Given the description of an element on the screen output the (x, y) to click on. 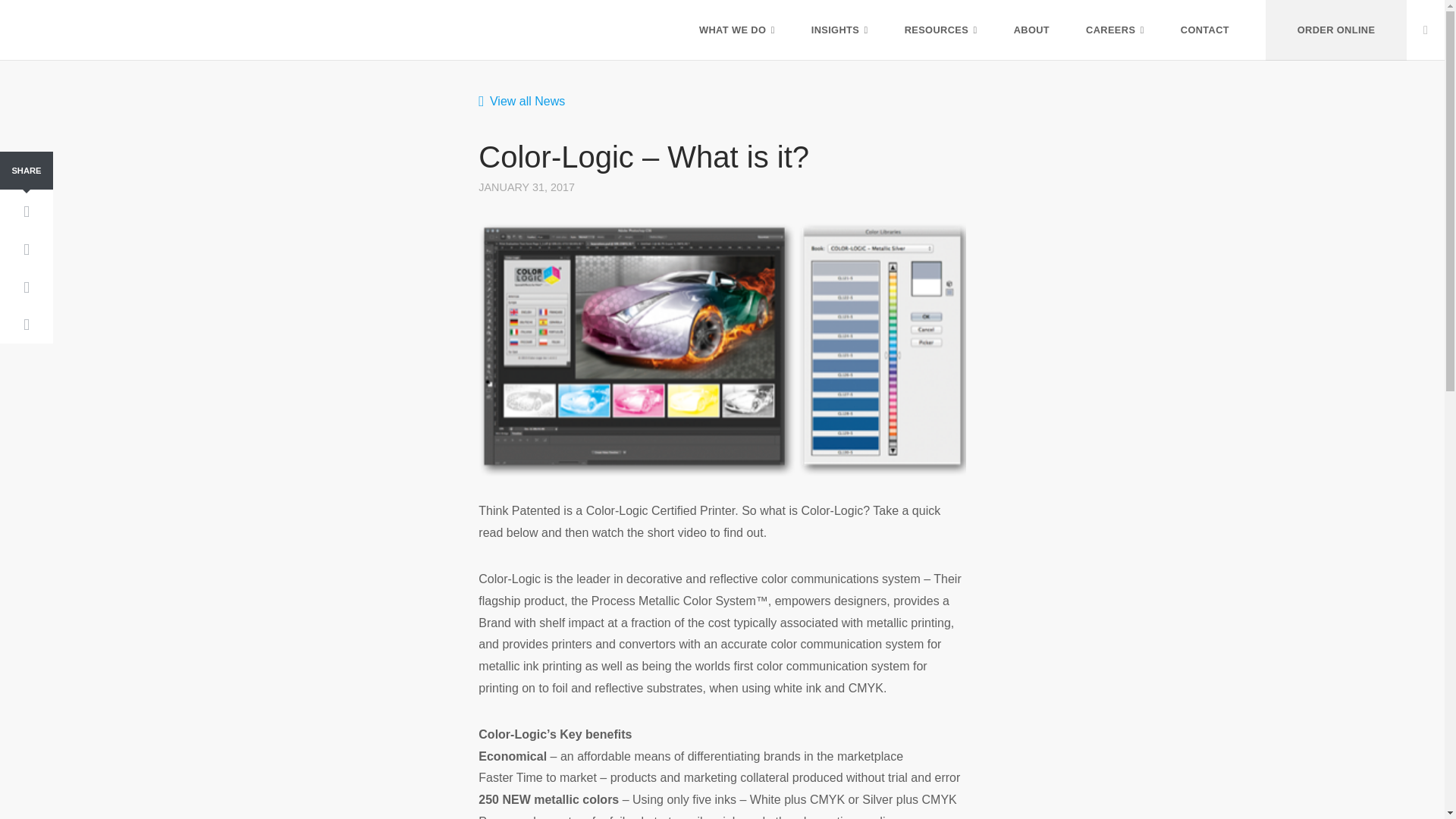
INSIGHTS (838, 30)
RESOURCES (940, 30)
CAREERS (1115, 30)
Share this article on Facebook (26, 211)
Tweet this article (26, 249)
View all News (521, 101)
ORDER ONLINE (1335, 30)
Share this article on LinkedIn (26, 324)
A Marketing Execution Company (94, 5)
